Given the description of an element on the screen output the (x, y) to click on. 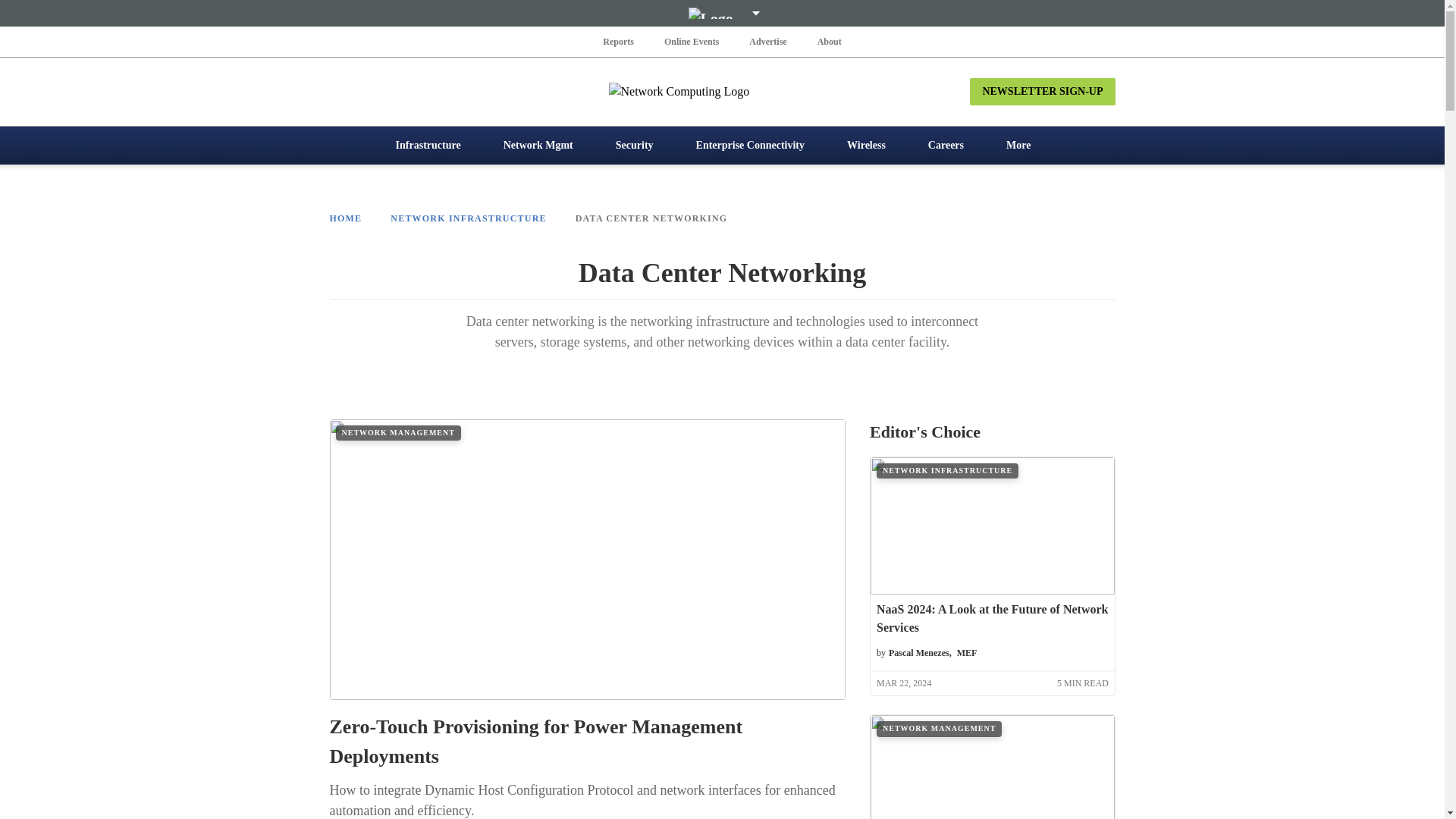
Network Computing Logo (721, 91)
NEWSLETTER SIGN-UP (1042, 90)
About (828, 41)
Advertise (767, 41)
Reports (618, 41)
Online Events (691, 41)
